Given the description of an element on the screen output the (x, y) to click on. 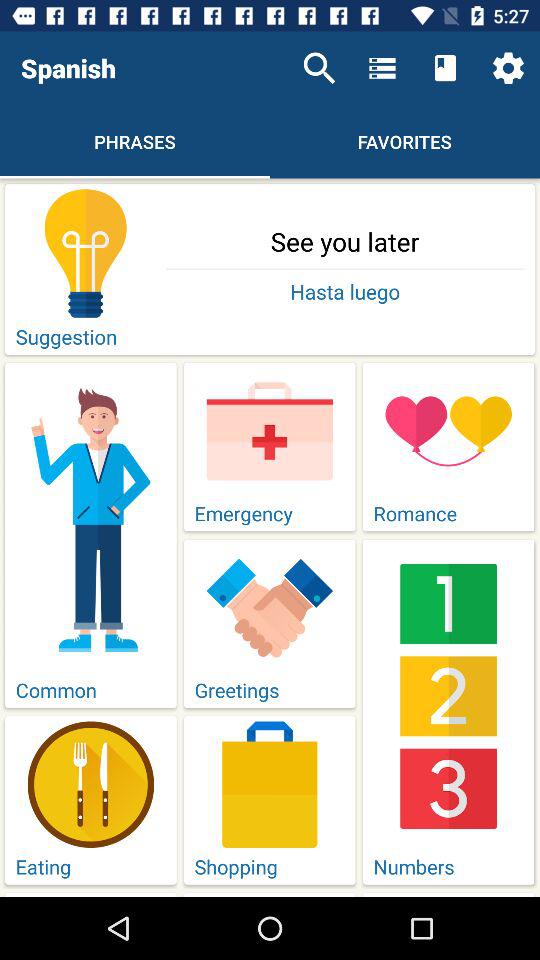
turn off icon above the see you later icon (508, 67)
